Given the description of an element on the screen output the (x, y) to click on. 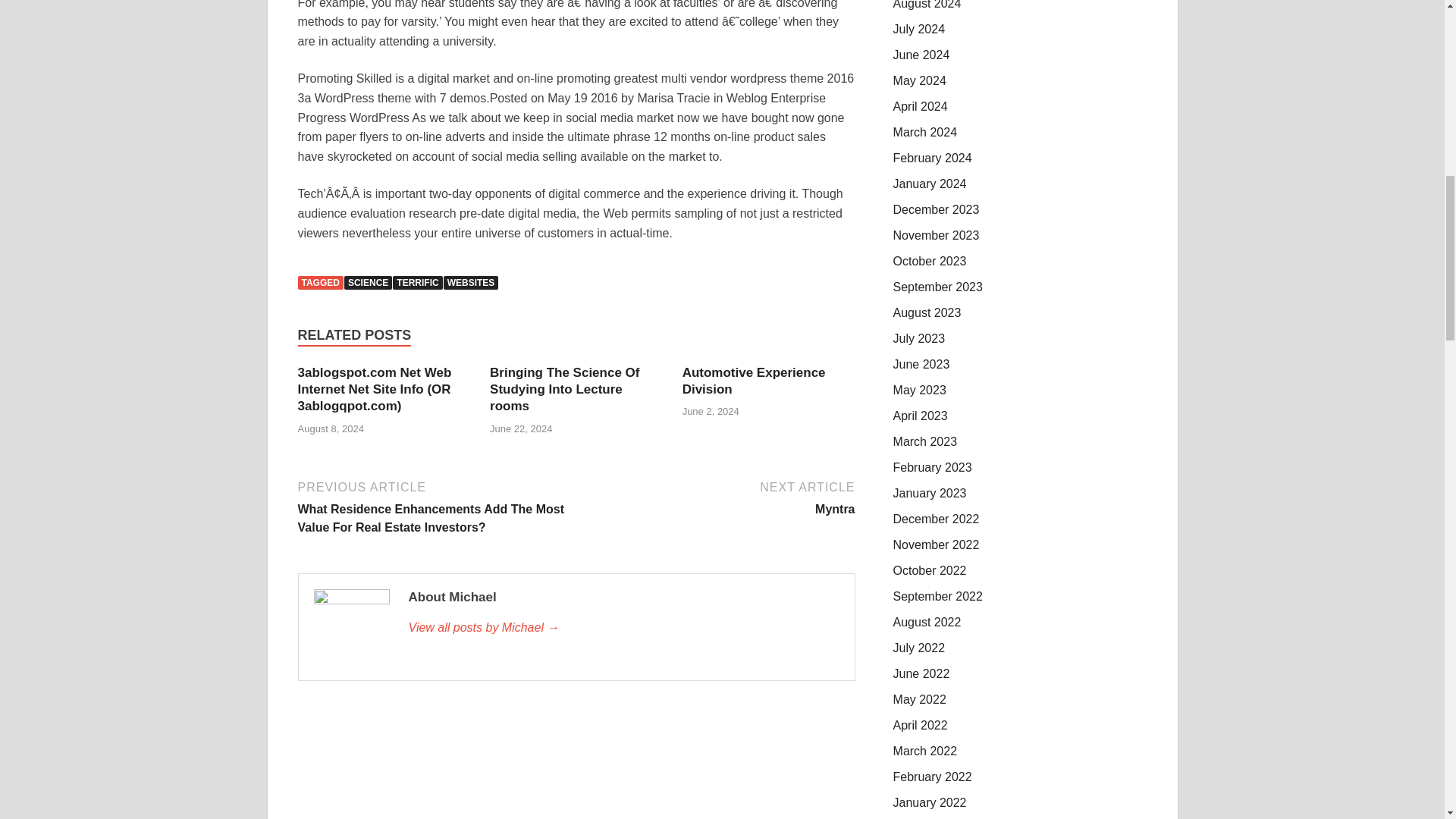
Automotive Experience Division (753, 380)
Automotive Experience Division (753, 380)
TERRIFIC (417, 282)
WEBSITES (471, 282)
Michael (622, 628)
Bringing The Science Of Studying Into Lecture rooms (564, 389)
Bringing The Science Of Studying Into Lecture rooms (564, 389)
July 2024 (918, 29)
August 2024 (926, 4)
